Given the description of an element on the screen output the (x, y) to click on. 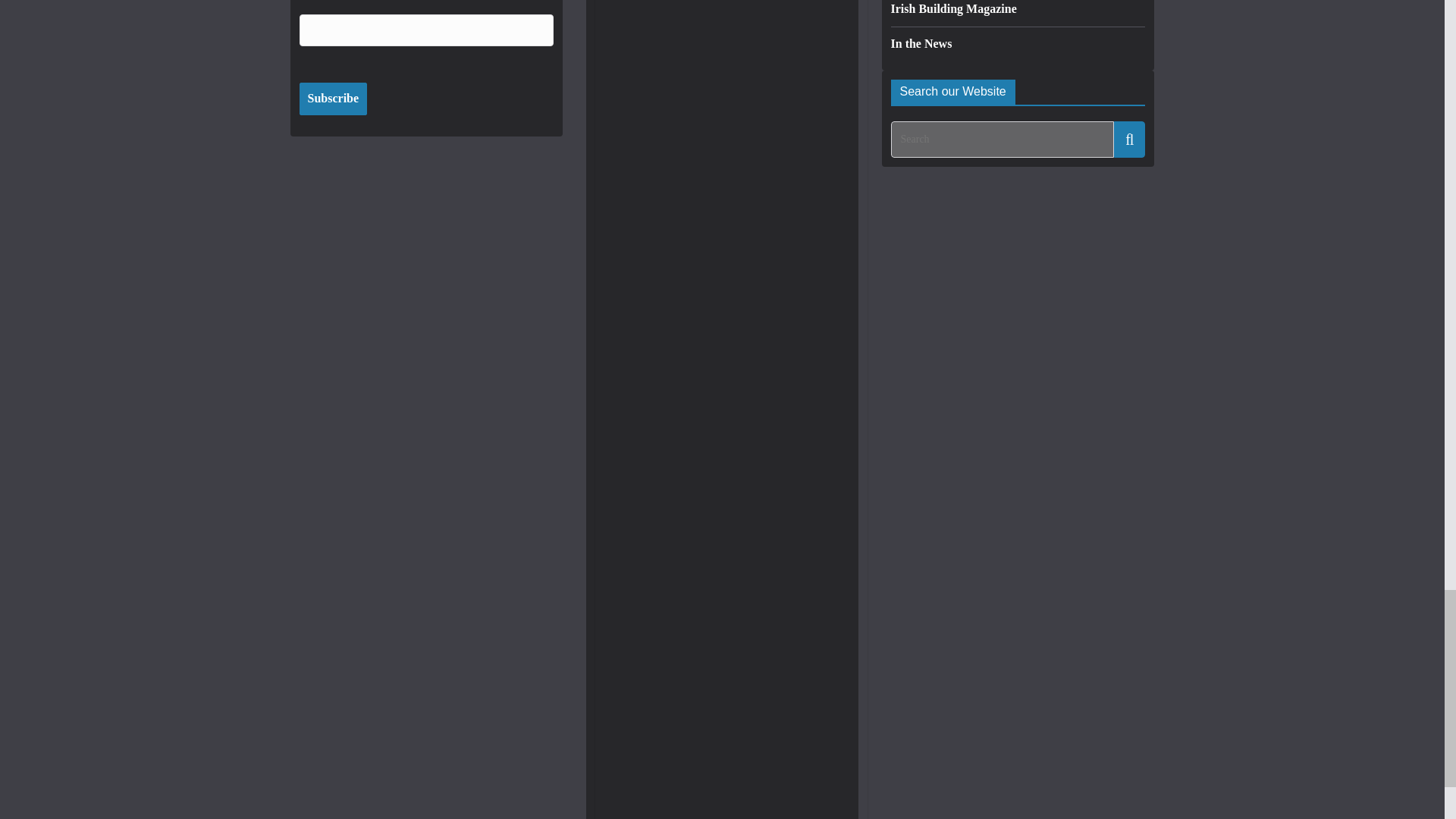
Subscribe (332, 98)
